Given the description of an element on the screen output the (x, y) to click on. 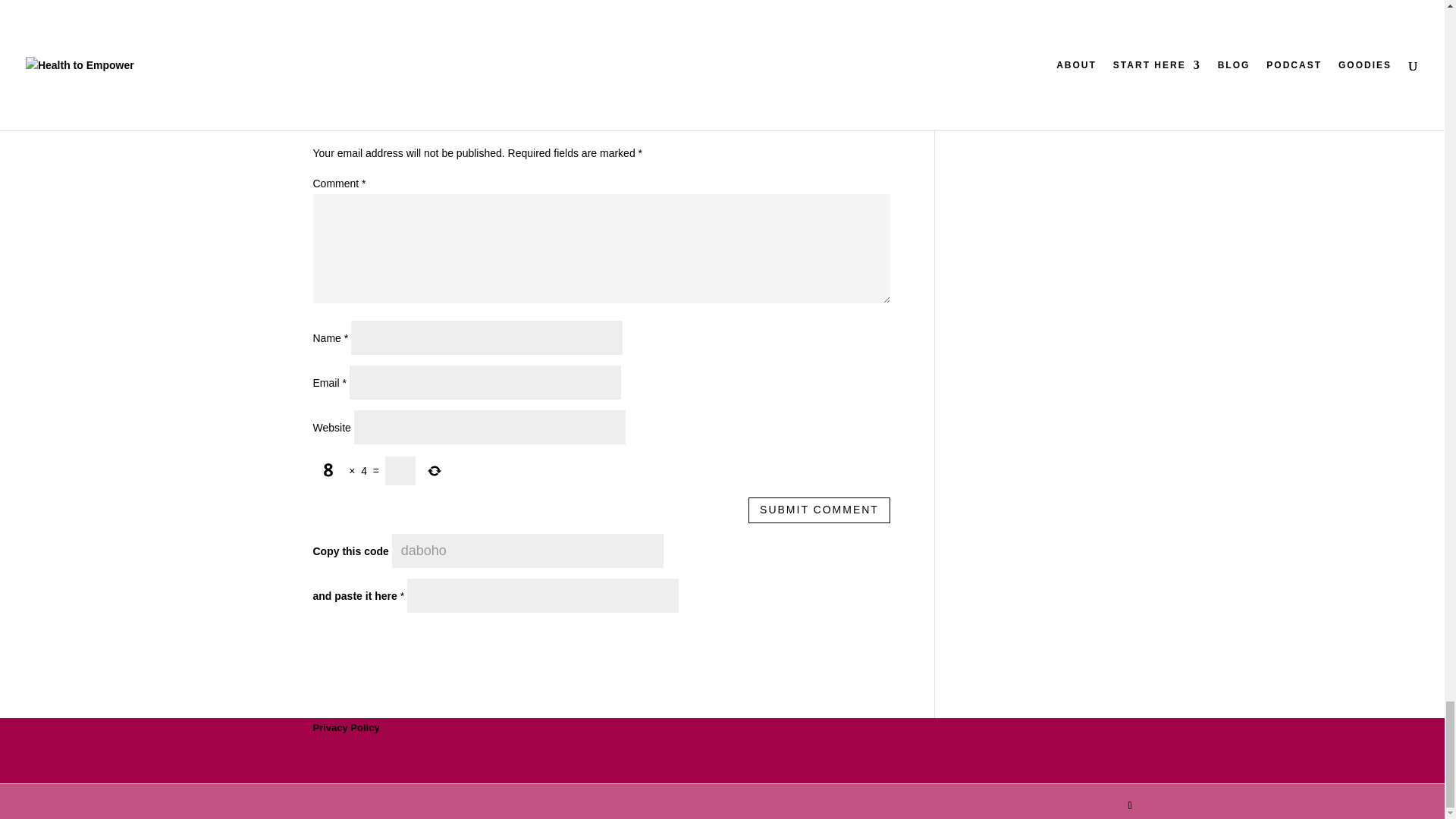
daboho (527, 550)
Submit Comment (818, 510)
